Given the description of an element on the screen output the (x, y) to click on. 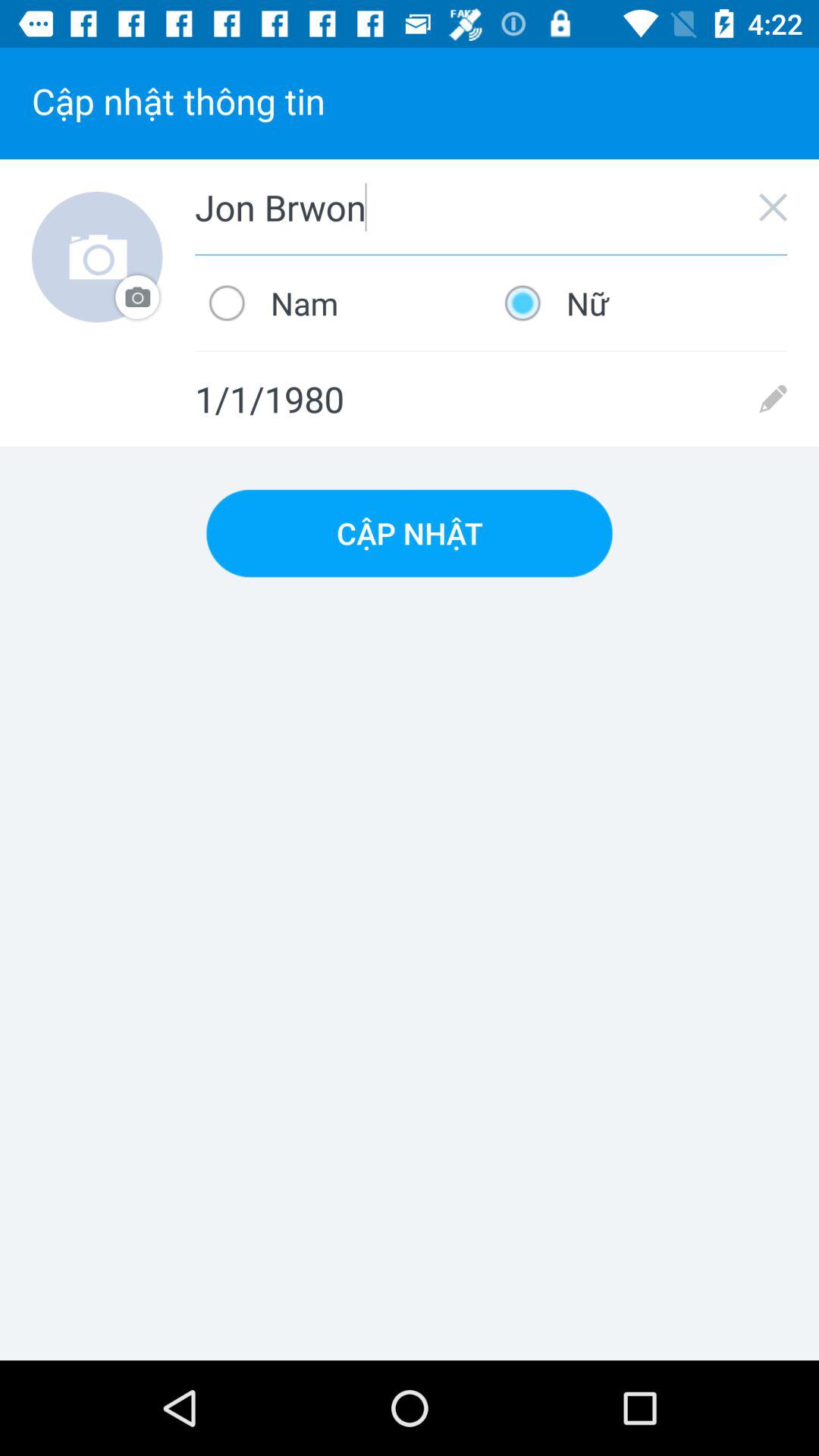
jump until nam icon (342, 302)
